Given the description of an element on the screen output the (x, y) to click on. 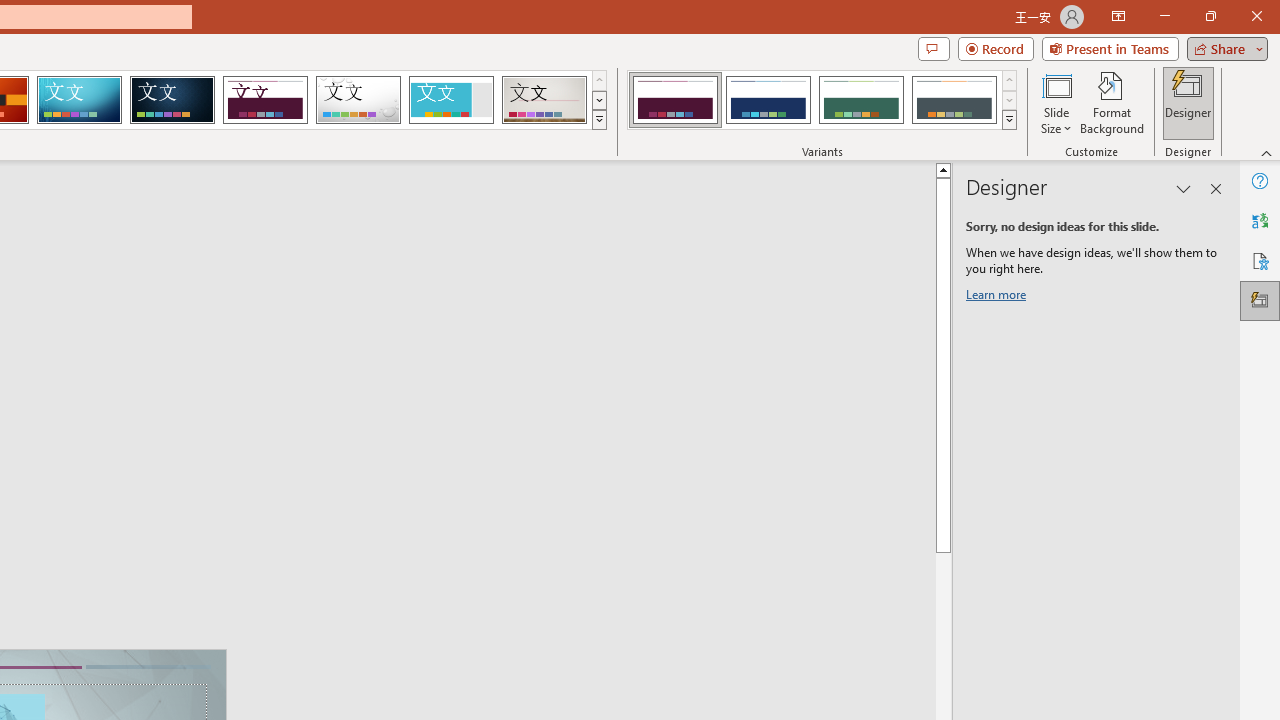
Droplet (358, 100)
Variants (1009, 120)
Dividend Variant 4 (953, 100)
Dividend (265, 100)
Dividend Variant 2 (768, 100)
